Given the description of an element on the screen output the (x, y) to click on. 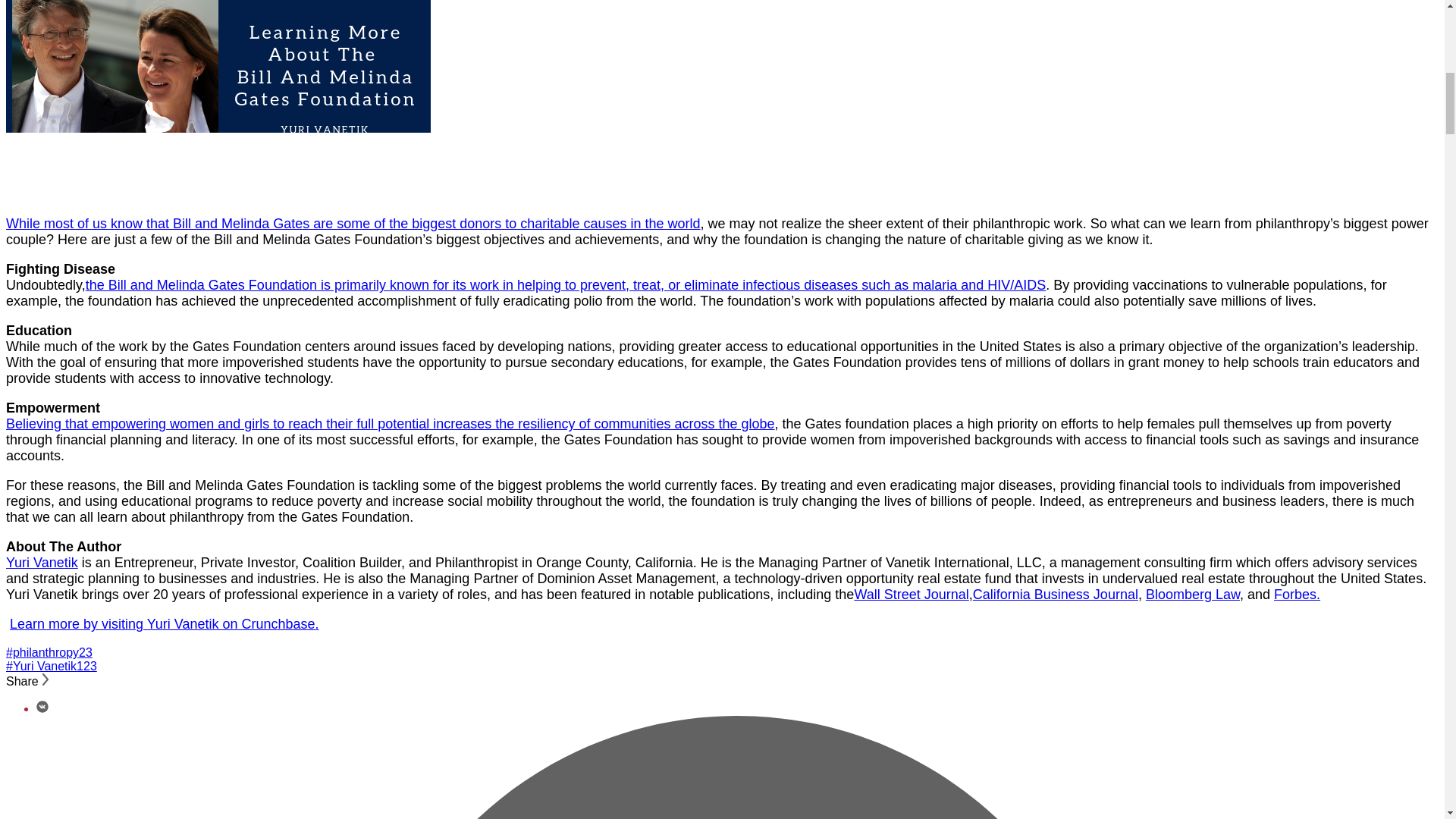
Yuri Vanetik (41, 562)
California Business Journal (1055, 594)
Wall Street Journal (910, 594)
VKontakte (42, 707)
Bloomberg Law (1192, 594)
Forbes. (1297, 594)
